Given the description of an element on the screen output the (x, y) to click on. 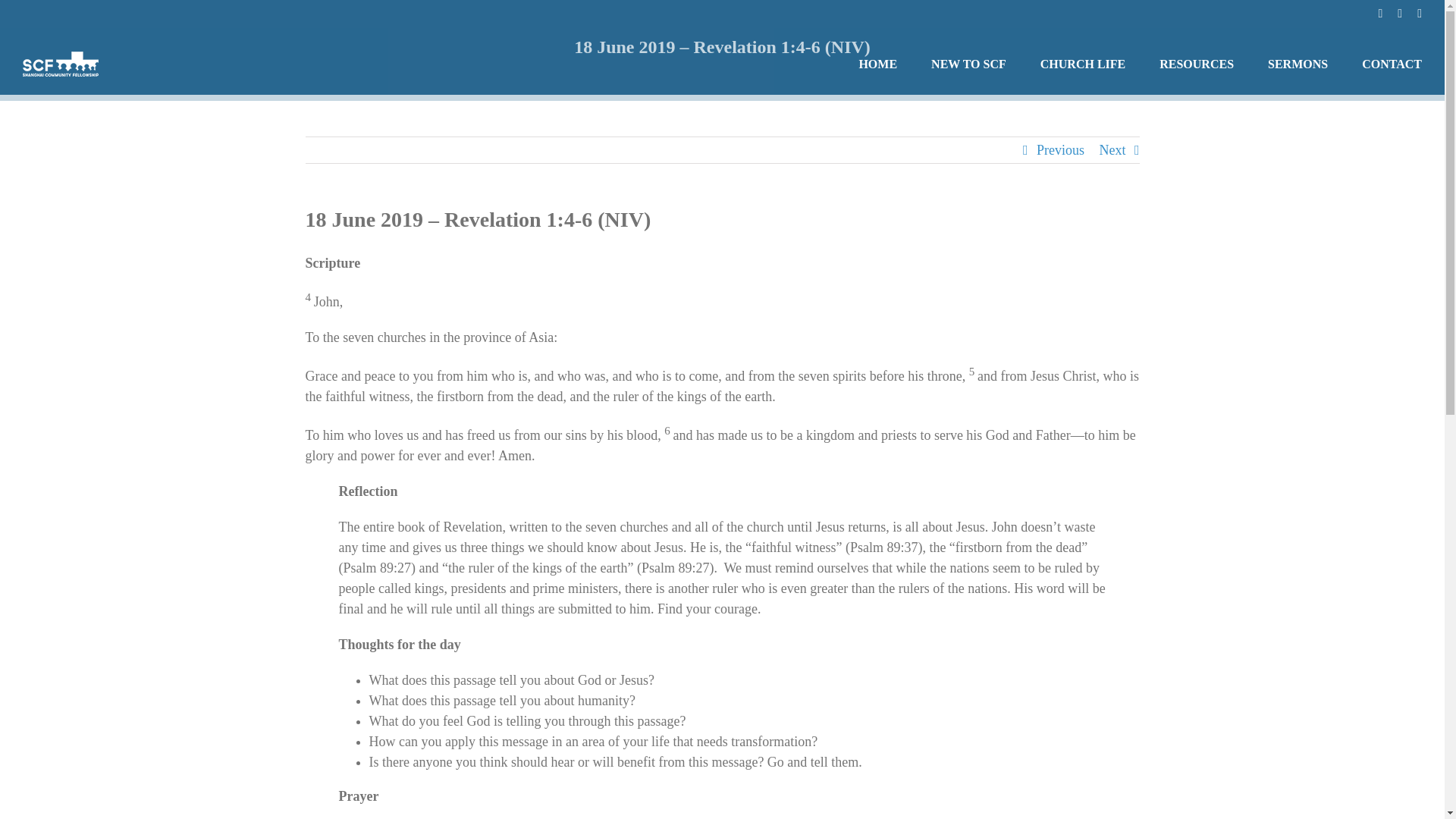
NEW TO SCF (968, 63)
CHURCH LIFE (1083, 63)
RESOURCES (1195, 63)
Previous (1060, 149)
Next (1112, 149)
